Given the description of an element on the screen output the (x, y) to click on. 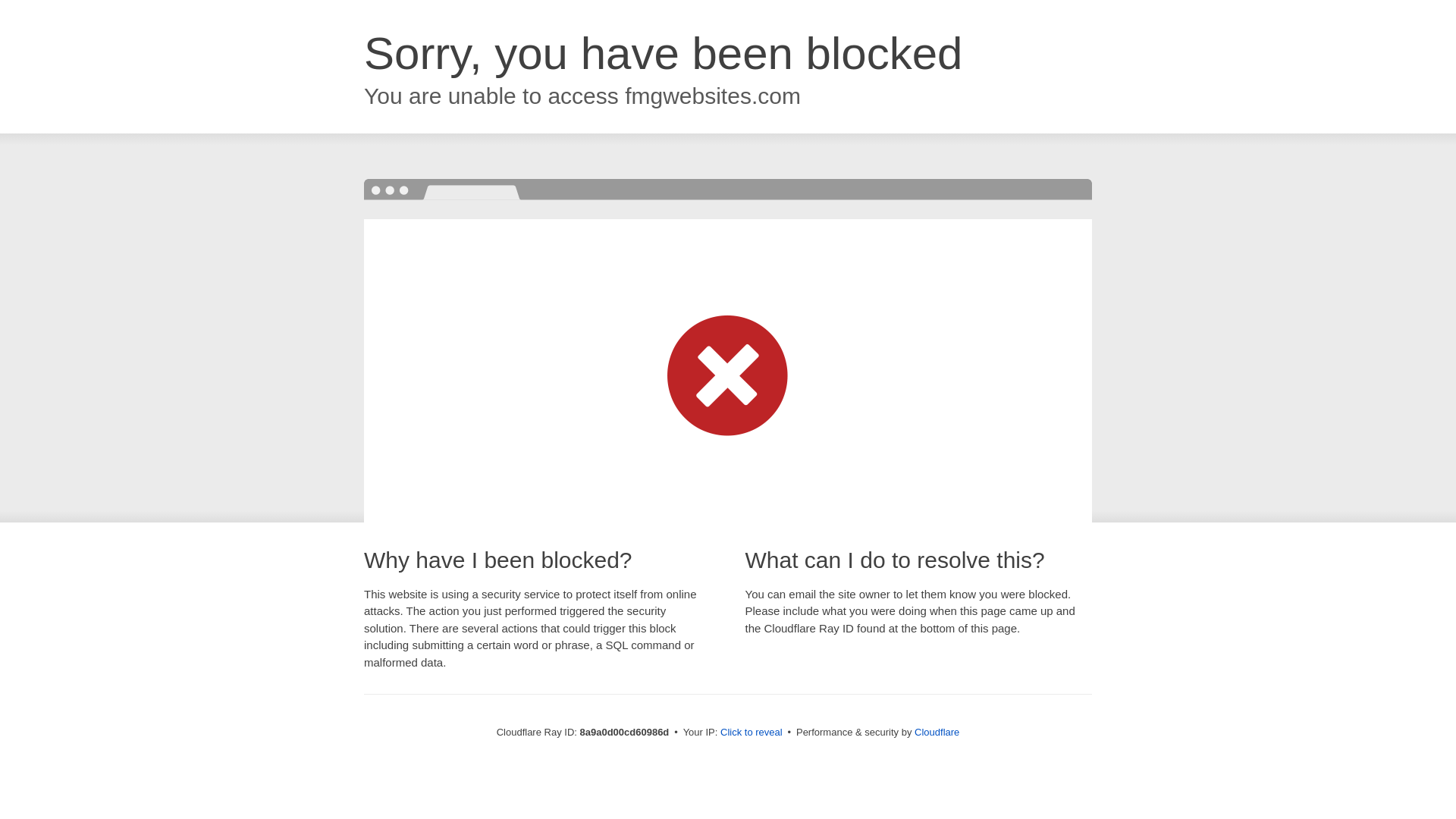
Cloudflare (936, 731)
Click to reveal (751, 732)
